Given the description of an element on the screen output the (x, y) to click on. 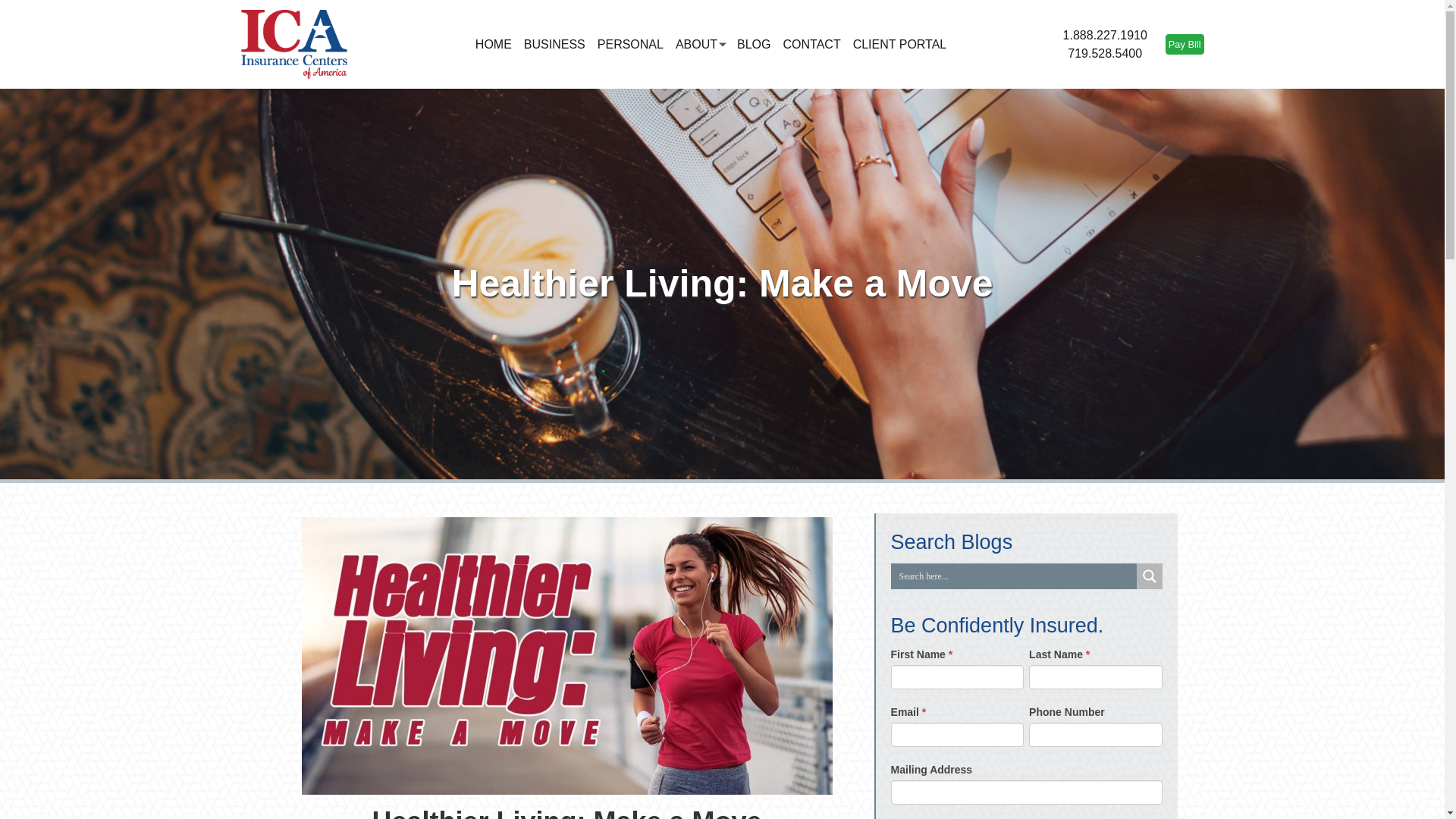
CONTACT (812, 44)
Pay Bill (1185, 44)
CLIENT PORTAL (900, 44)
1.888.227.1910 (1104, 34)
Insurance Centers of America (294, 43)
719.528.5400 (1104, 52)
BLOG (753, 44)
HOME (493, 44)
PERSONAL (630, 44)
BUSINESS (554, 44)
ABOUT (696, 44)
